Given the description of an element on the screen output the (x, y) to click on. 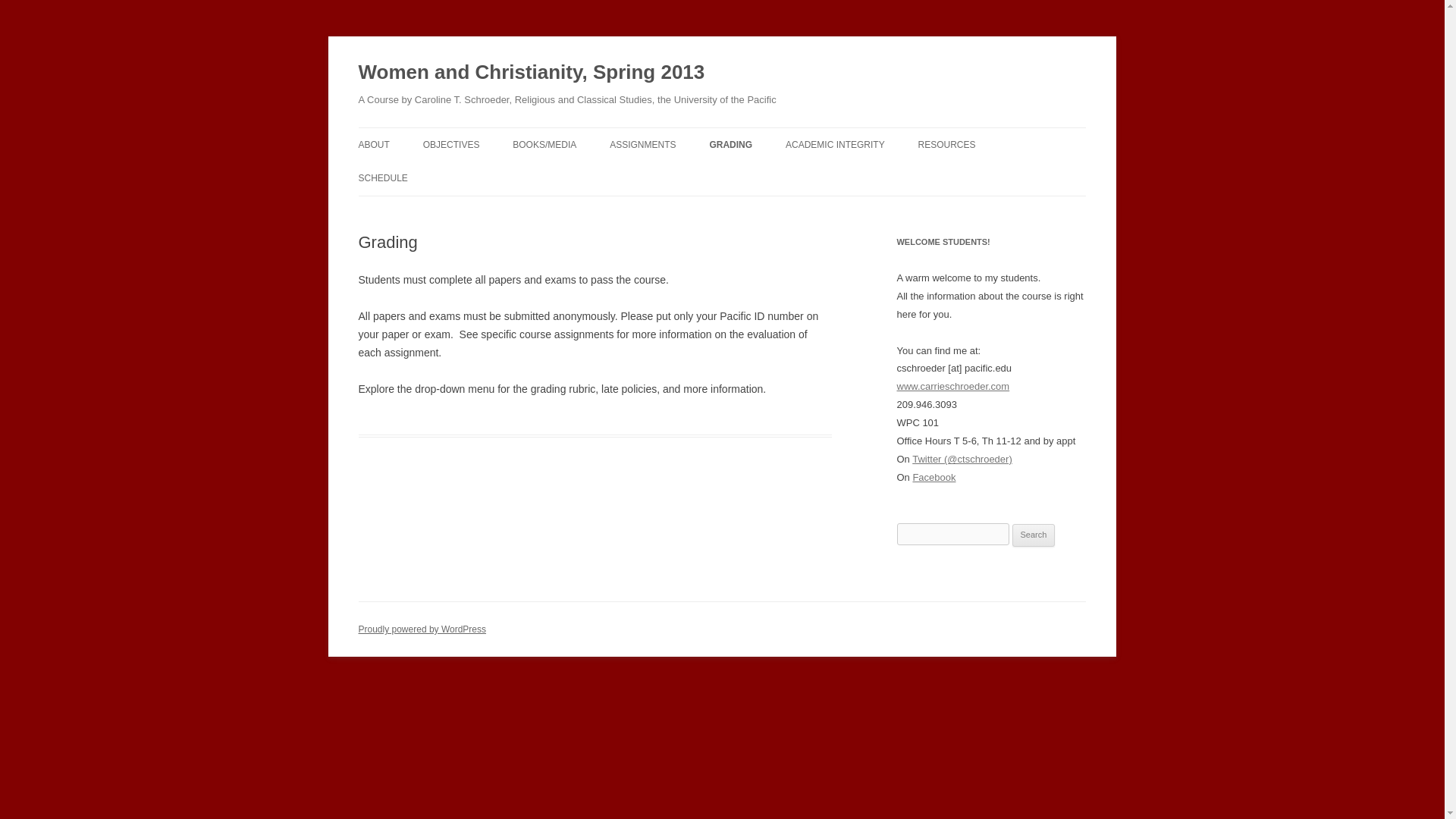
DOWNLOAD SYLLABUS (433, 176)
GRADING (730, 144)
ACADEMIC INTEGRITY (835, 144)
OBJECTIVES (451, 144)
www.carrieschroeder.com (952, 386)
RESOURCES (946, 144)
Search (1033, 535)
PARTICIPATION AND ATTENDANCE (685, 185)
ABOUT (373, 144)
ASSIGNMENTS (642, 144)
Facebook (933, 477)
SCHEDULE (382, 177)
RUBRIC (784, 176)
Search (1033, 535)
